Given the description of an element on the screen output the (x, y) to click on. 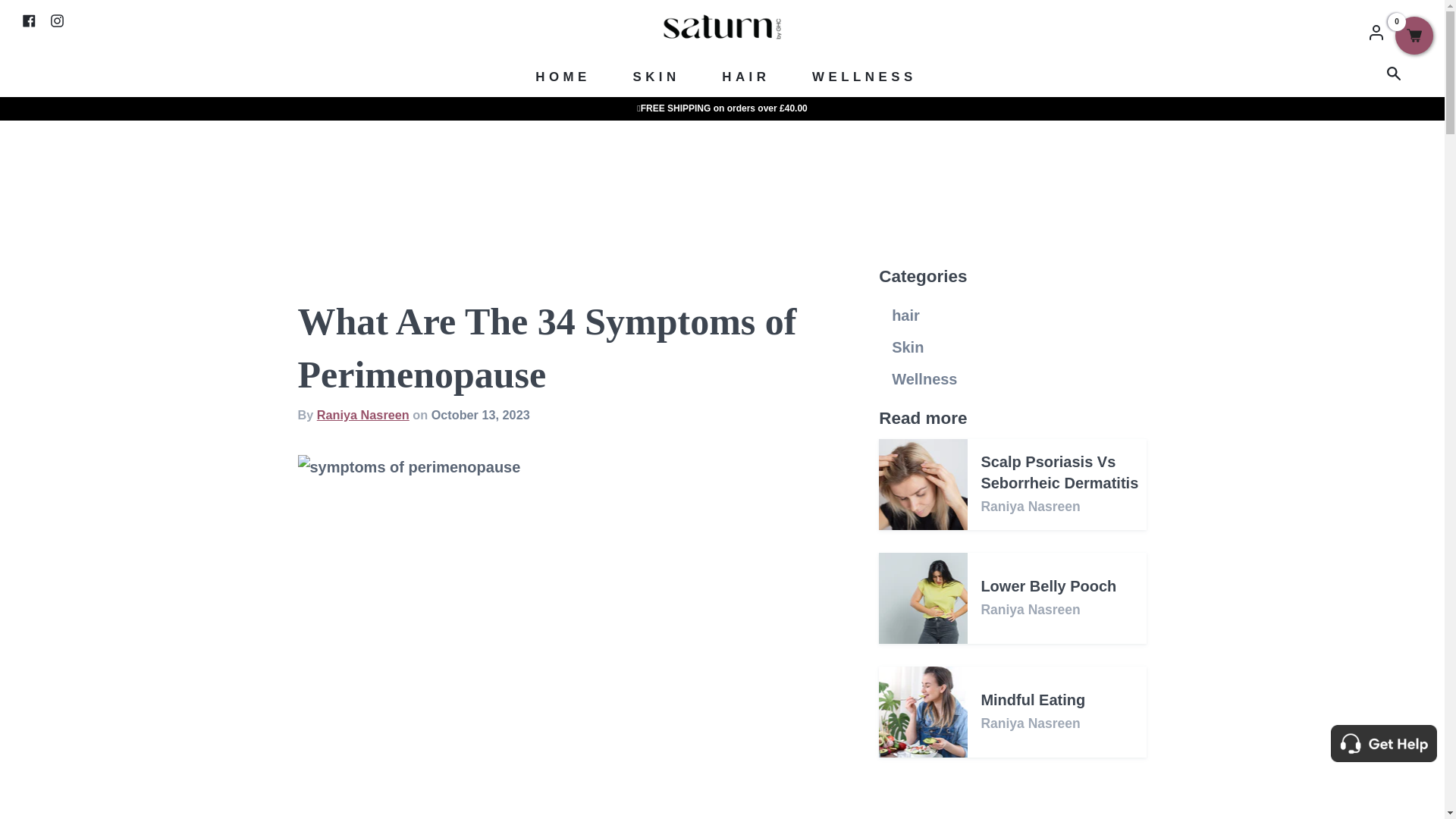
WELLNESS (864, 76)
SKIN (655, 76)
HOME (562, 76)
Account (1375, 30)
HAIR (745, 76)
Raniya Nasreen (364, 414)
